Given the description of an element on the screen output the (x, y) to click on. 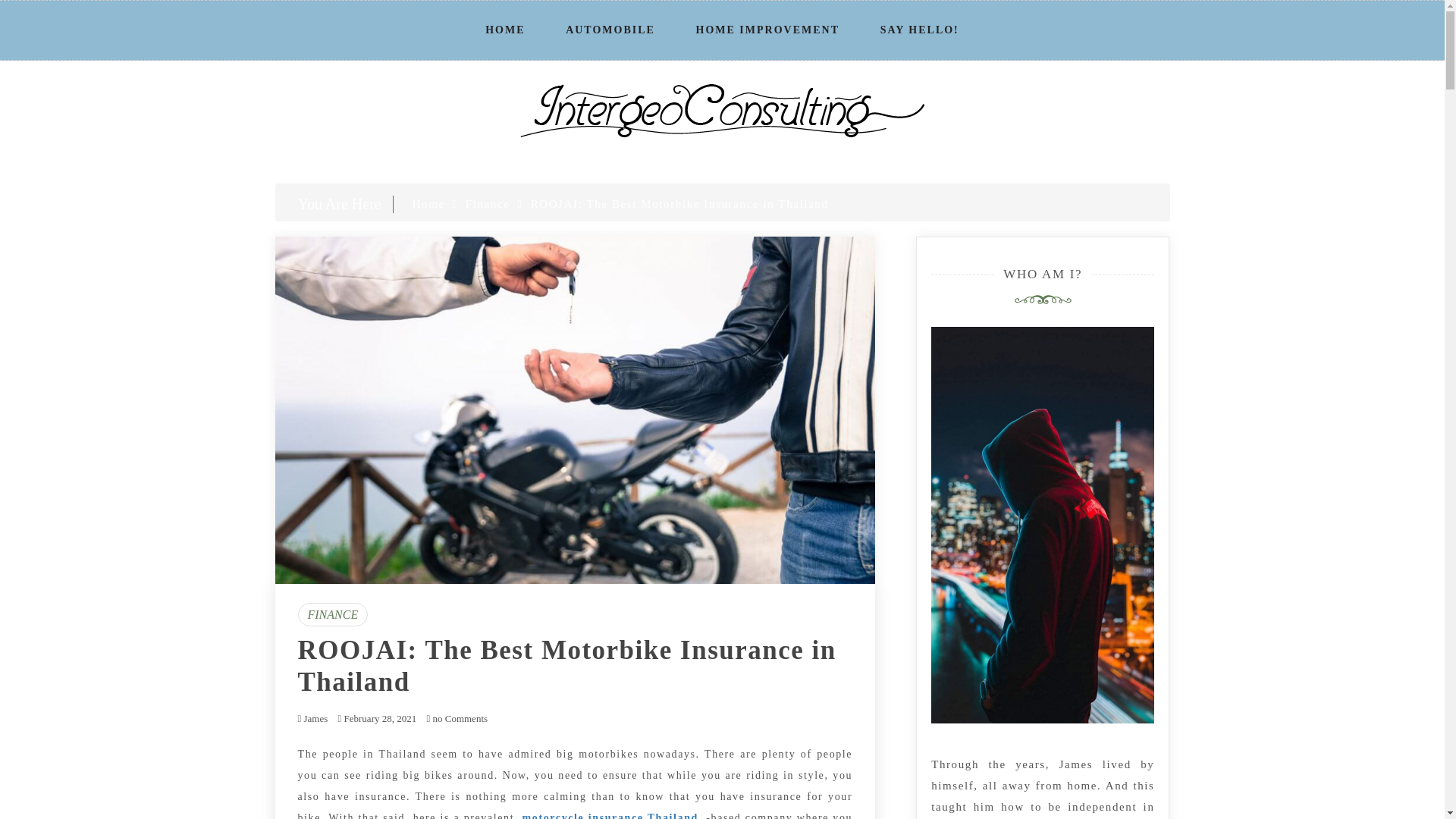
FINANCE (332, 614)
no Comments (456, 717)
Home (428, 203)
ROOJAI: The Best Motorbike Insurance in Thailand (566, 665)
HOME IMPROVEMENT (768, 29)
James (314, 717)
SAY HELLO! (918, 29)
Finance (488, 203)
Posts by James (314, 717)
February 28, 2021 (379, 717)
